Given the description of an element on the screen output the (x, y) to click on. 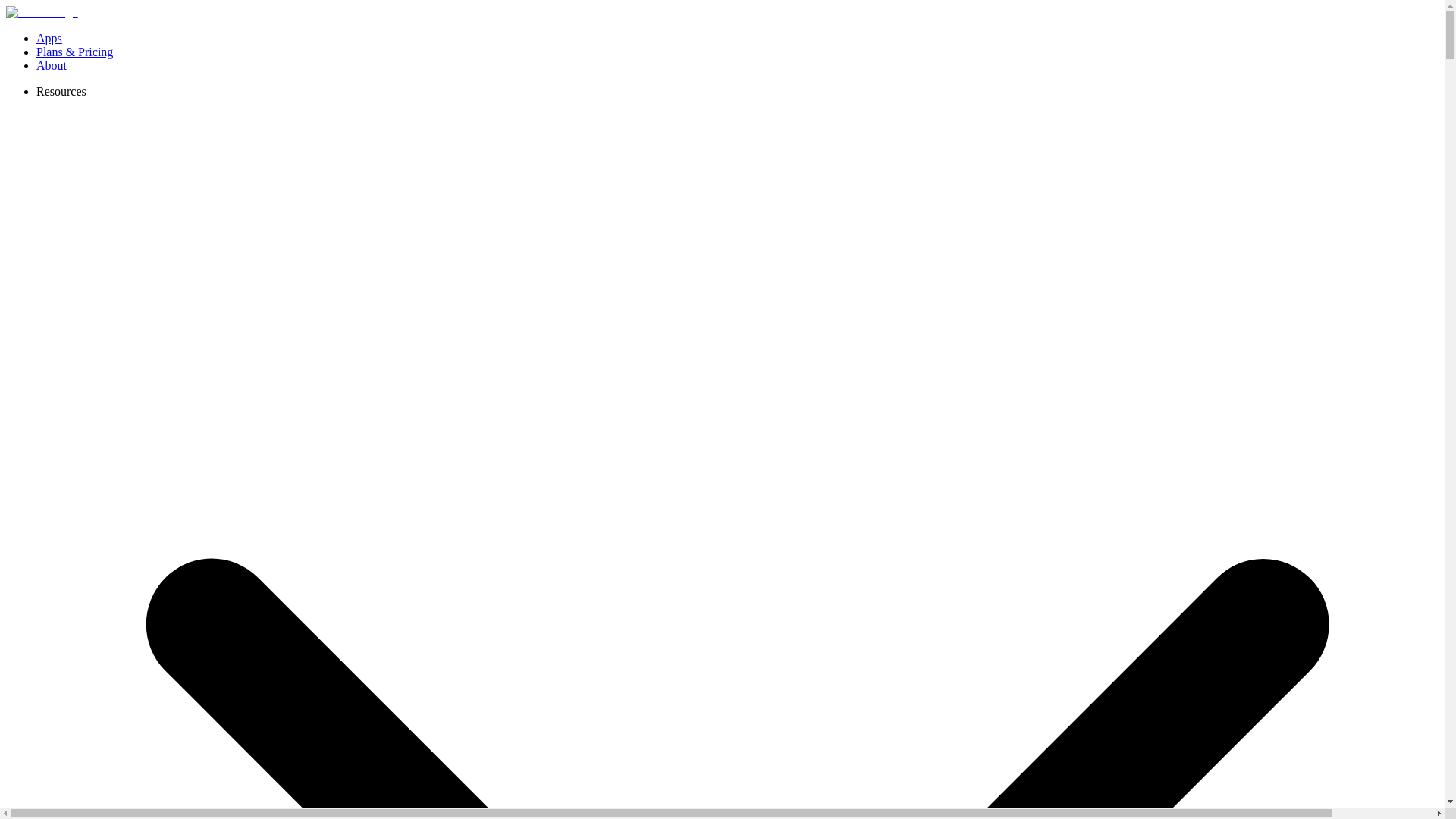
About (51, 65)
Apps (49, 38)
